Given the description of an element on the screen output the (x, y) to click on. 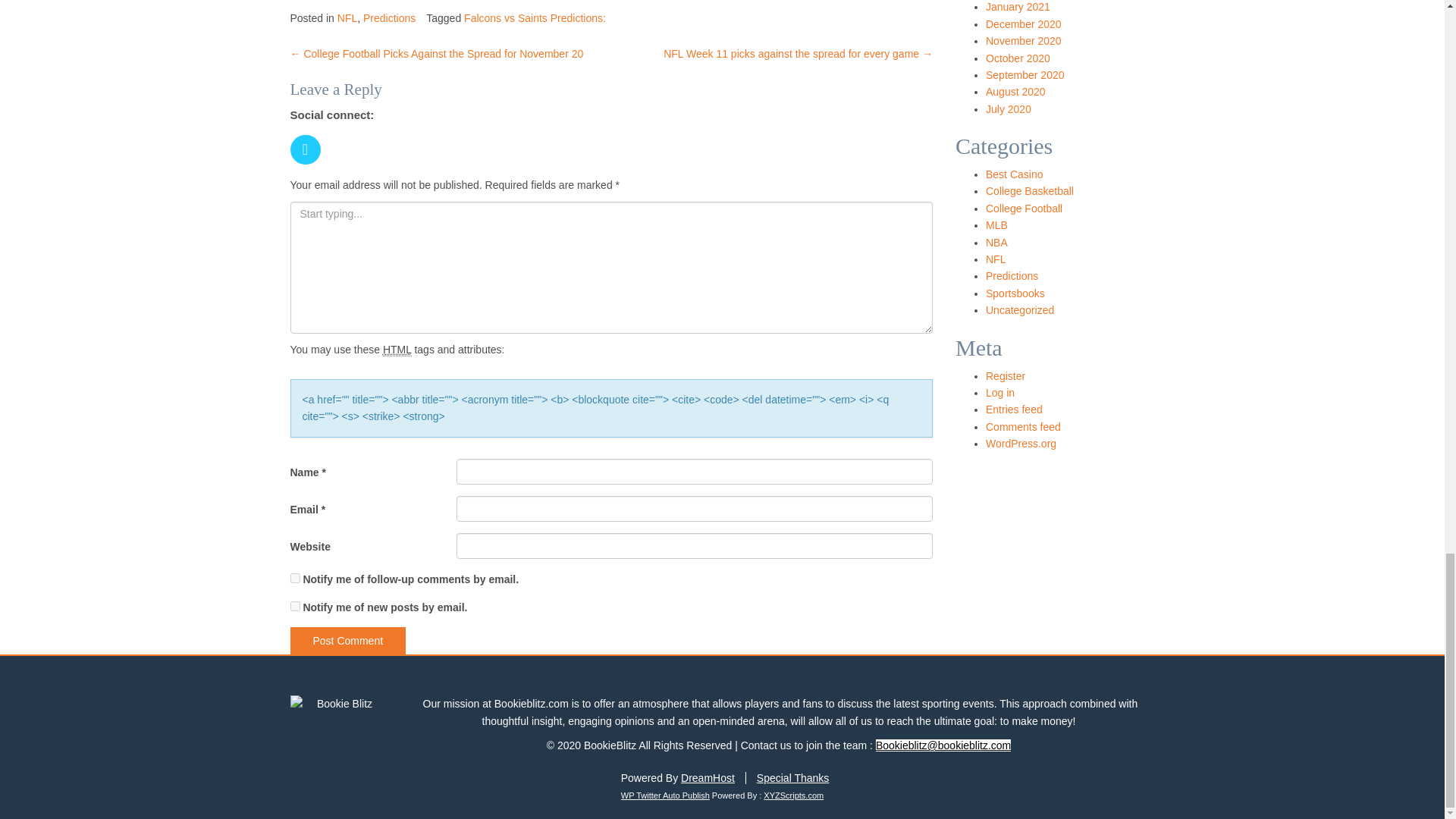
WP Twitter Auto Publish (665, 795)
Login with twitter (308, 168)
Post Comment (347, 640)
subscribe (294, 578)
subscribe (294, 605)
HyperText Markup Language (397, 349)
